Given the description of an element on the screen output the (x, y) to click on. 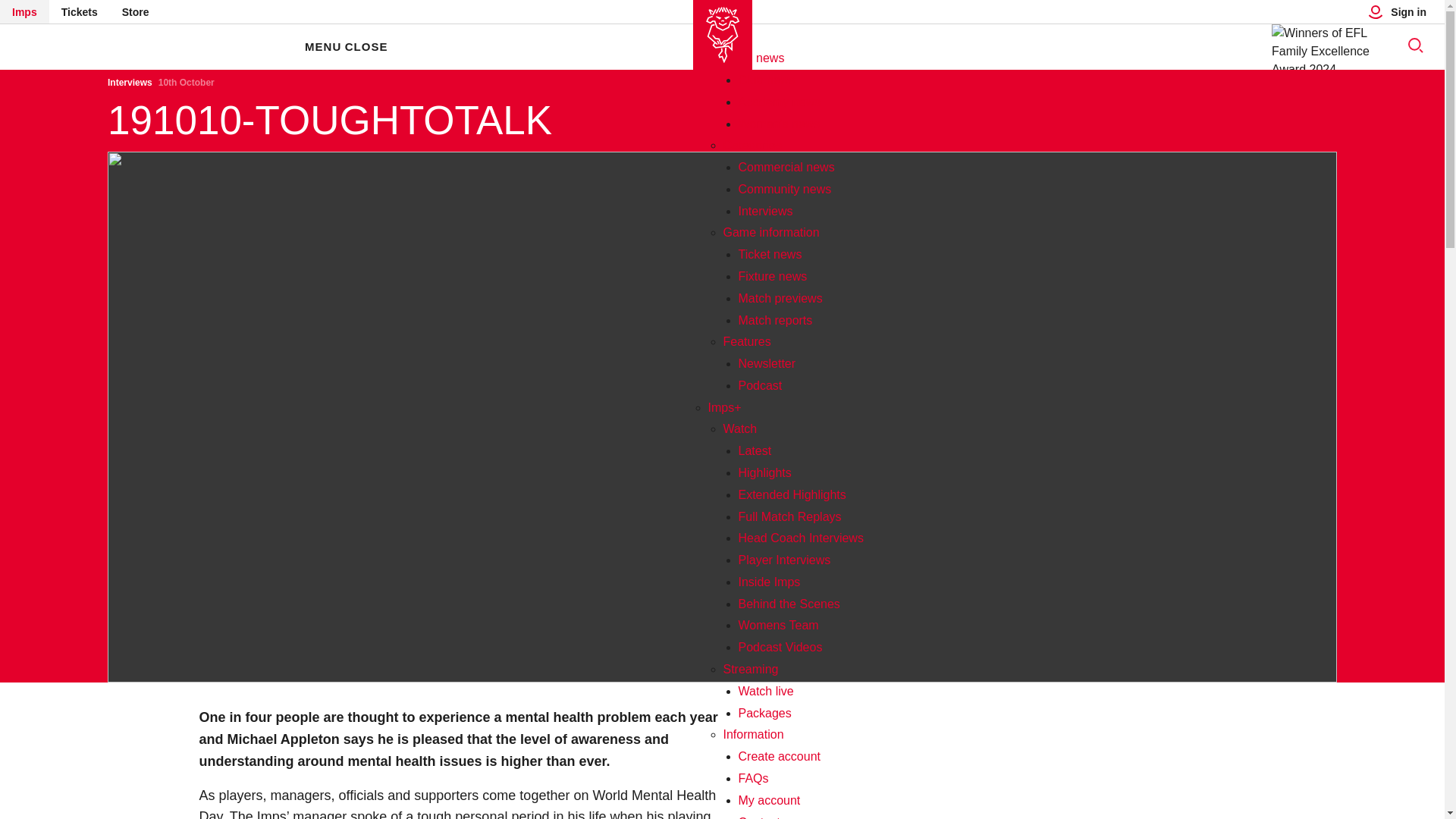
Streaming (750, 668)
Click for women's news (779, 123)
Game information (771, 232)
Head Coach Interviews (800, 537)
Extended Highlights (791, 494)
Match reports (775, 319)
Behind the Scenes (789, 603)
Podcast (760, 385)
Click for newsletter (767, 363)
Highlights (765, 472)
Tickets (79, 11)
Team news (753, 57)
Community news (784, 188)
Academy news (779, 101)
Podcast Videos (780, 646)
